Given the description of an element on the screen output the (x, y) to click on. 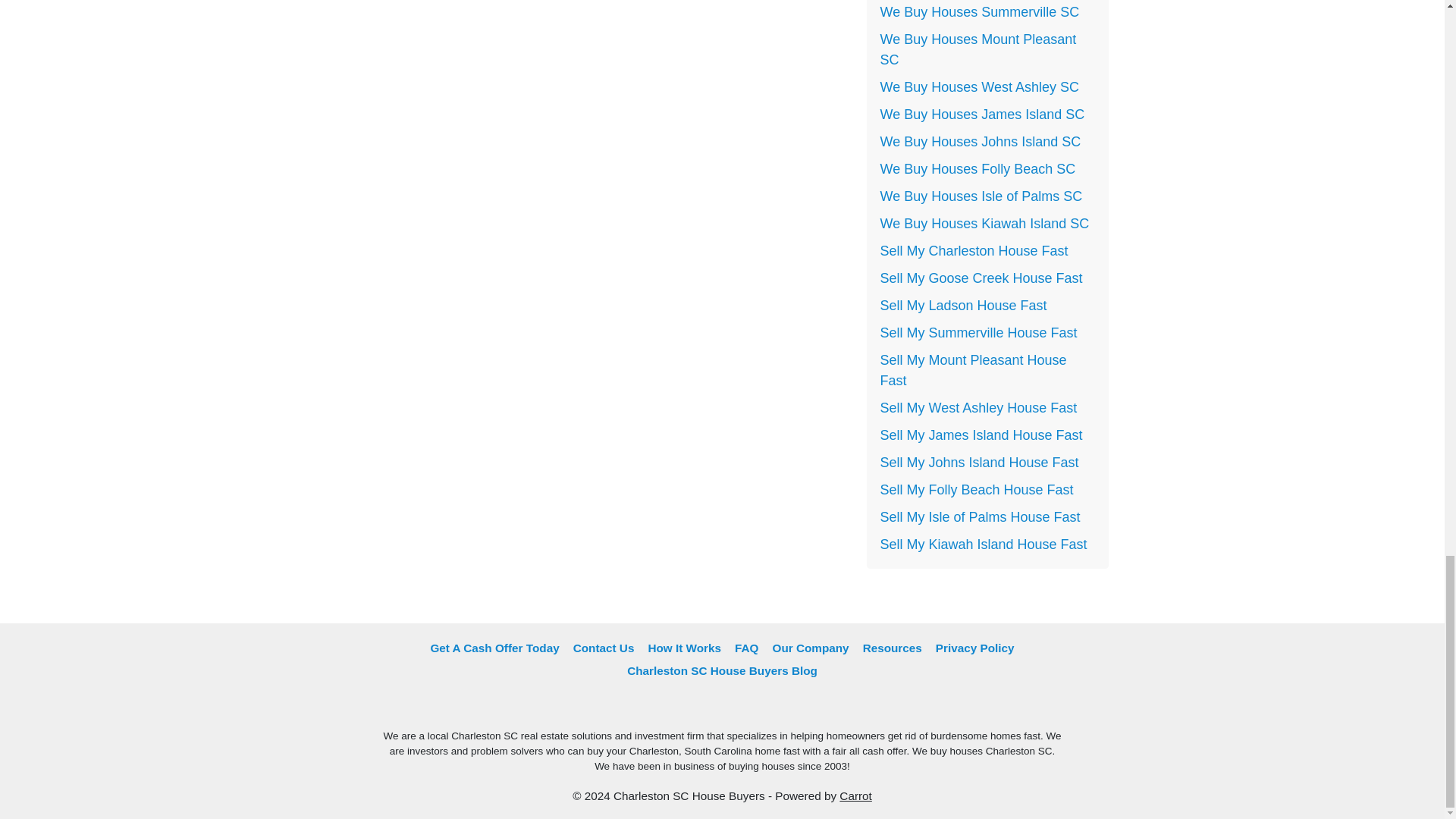
We Buy Houses James Island SC (981, 114)
We Buy Houses Johns Island SC (979, 141)
We Buy Houses Folly Beach SC (977, 168)
We Buy Houses Summerville SC (978, 11)
We Buy Houses Kiawah Island SC (984, 223)
We Buy Houses West Ashley SC (978, 87)
We Buy Houses Mount Pleasant SC (977, 49)
We Buy Houses Isle of Palms SC (980, 196)
